Given the description of an element on the screen output the (x, y) to click on. 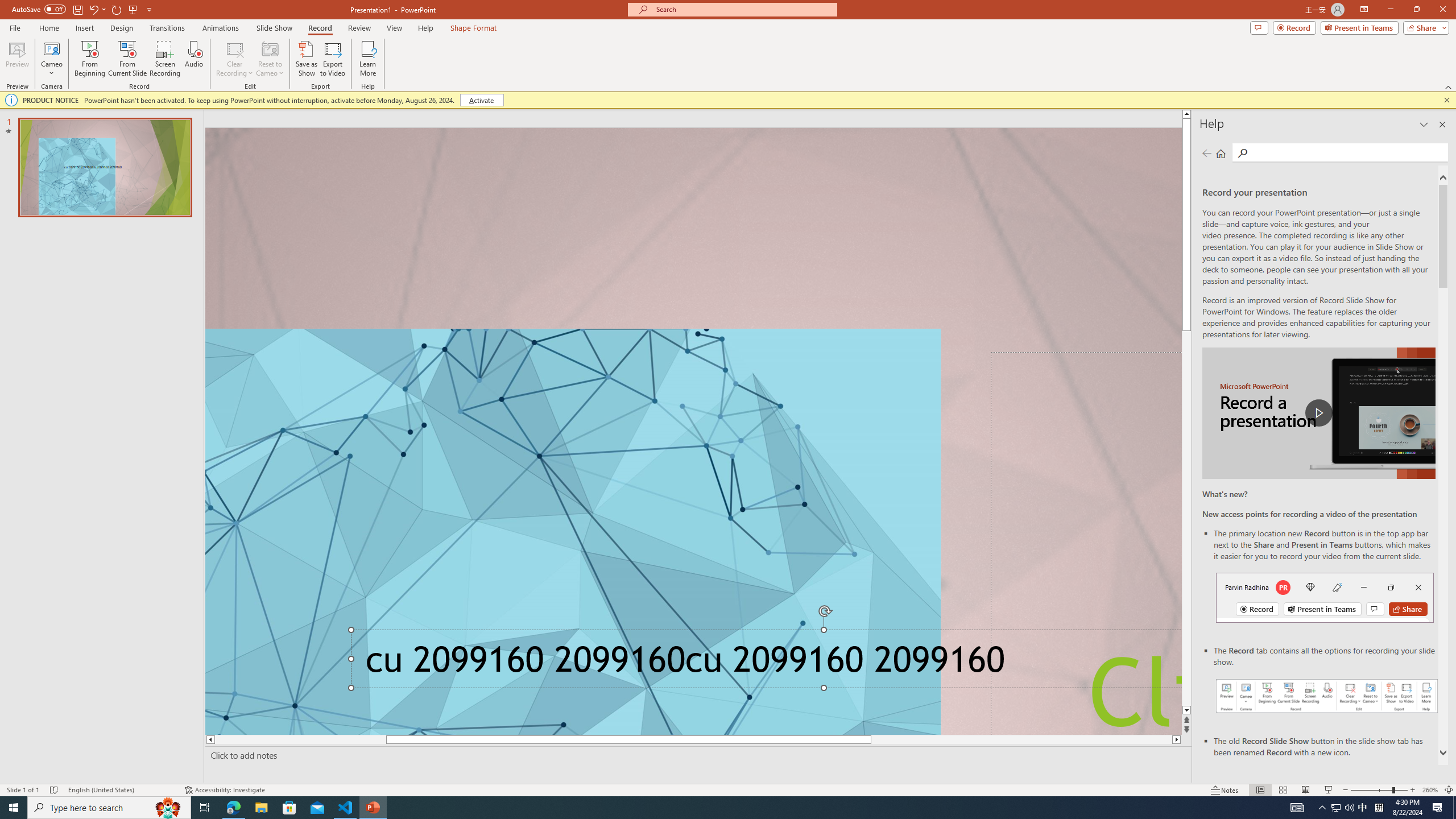
Close this message (1446, 99)
TextBox 61 (762, 663)
